Given the description of an element on the screen output the (x, y) to click on. 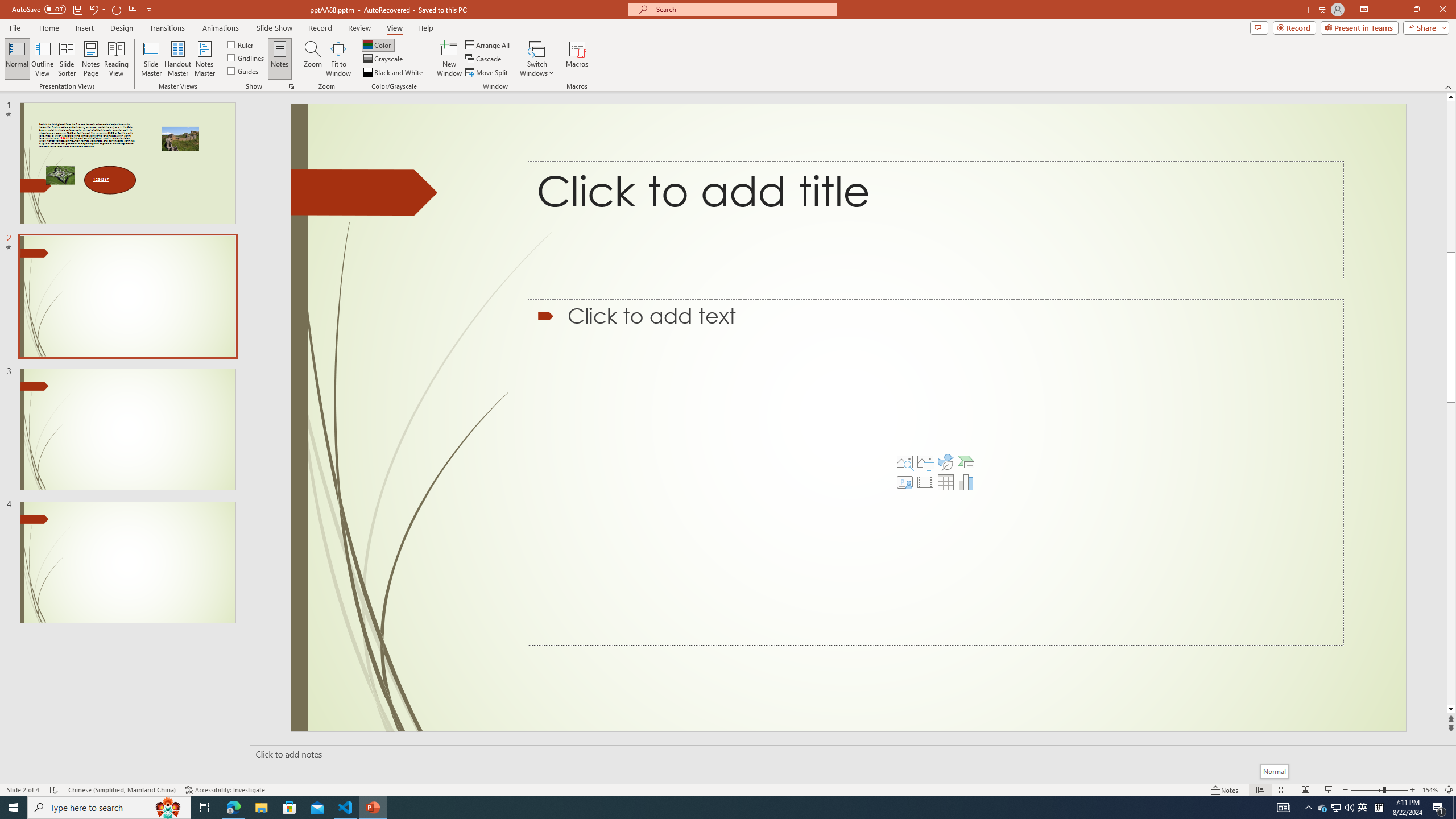
Insert an Icon (945, 461)
New Window (449, 58)
Insert Cameo (904, 482)
Arrange All (488, 44)
Black and White (393, 72)
Slide Notes (849, 754)
Grayscale (383, 58)
